Given the description of an element on the screen output the (x, y) to click on. 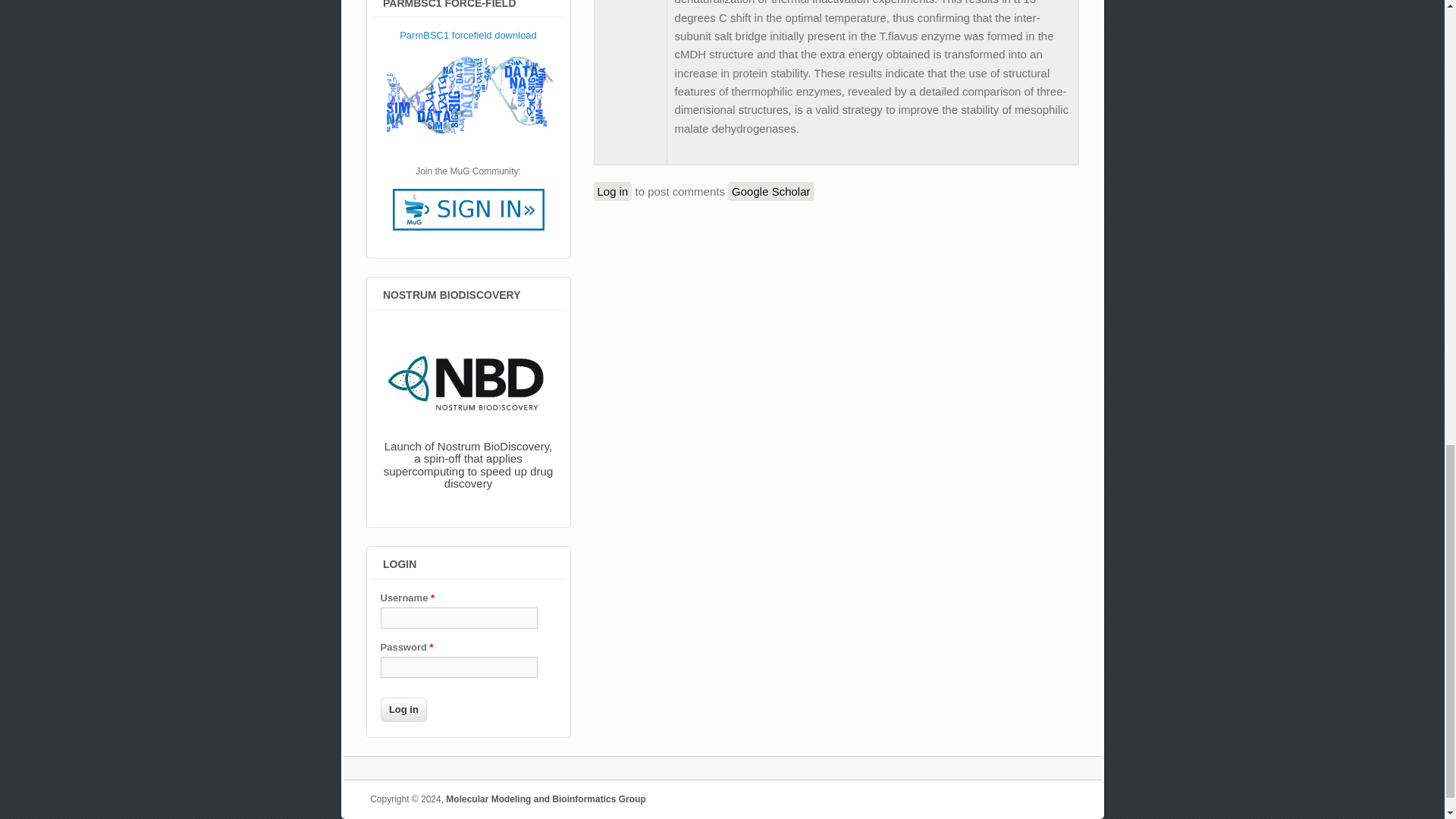
Click to search Google Scholar for this entry (770, 190)
Log in (404, 709)
Nostrum Biodiscovery (468, 410)
